Given the description of an element on the screen output the (x, y) to click on. 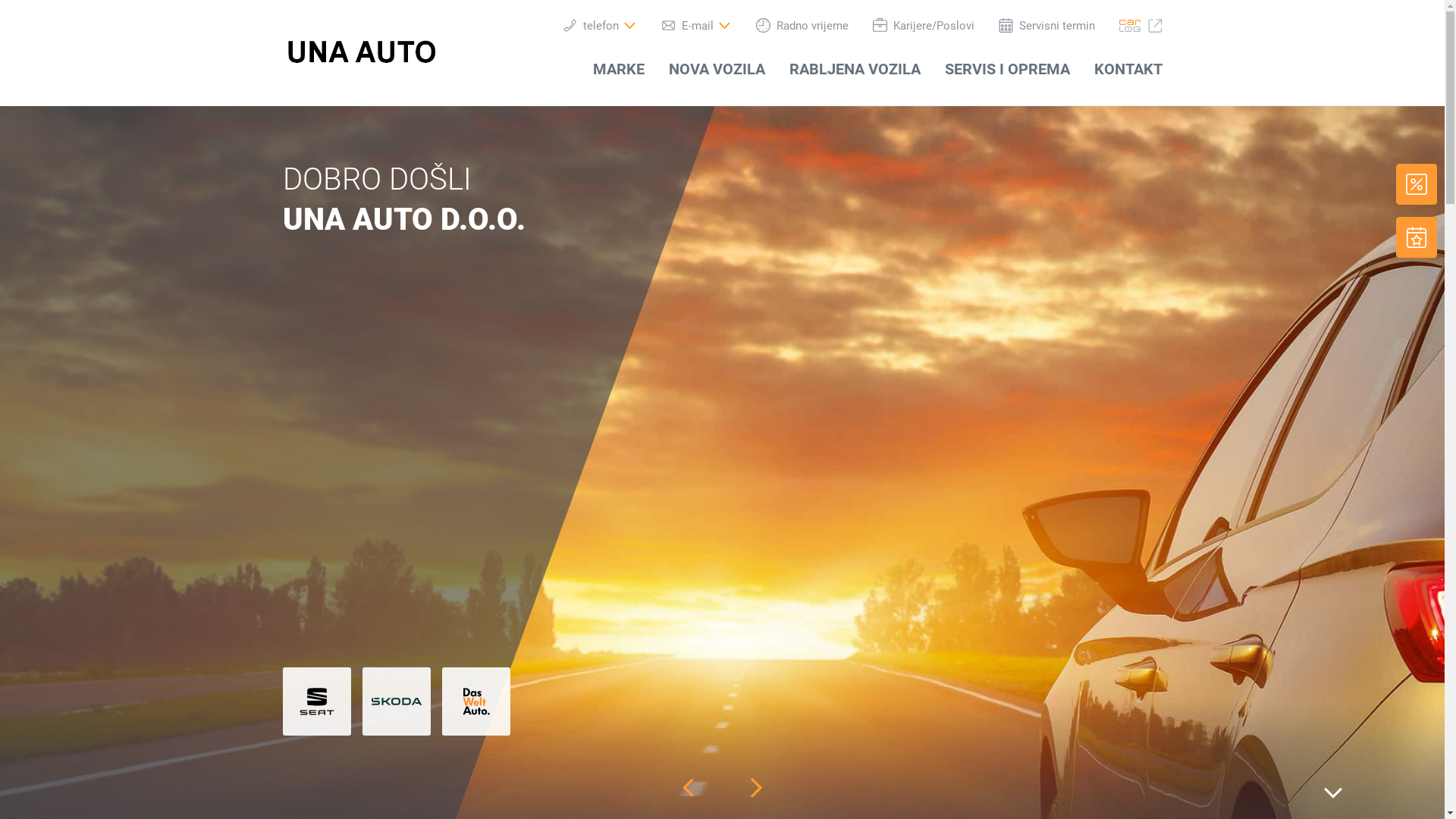
E-mail Element type: text (696, 25)
Karijere/Poslovi Element type: text (922, 25)
telefon Element type: text (599, 25)
Servisni termin Element type: text (1045, 25)
Radno vrijeme Element type: text (801, 25)
UNA AUTO D.O.O. Element type: hover (360, 50)
